Given the description of an element on the screen output the (x, y) to click on. 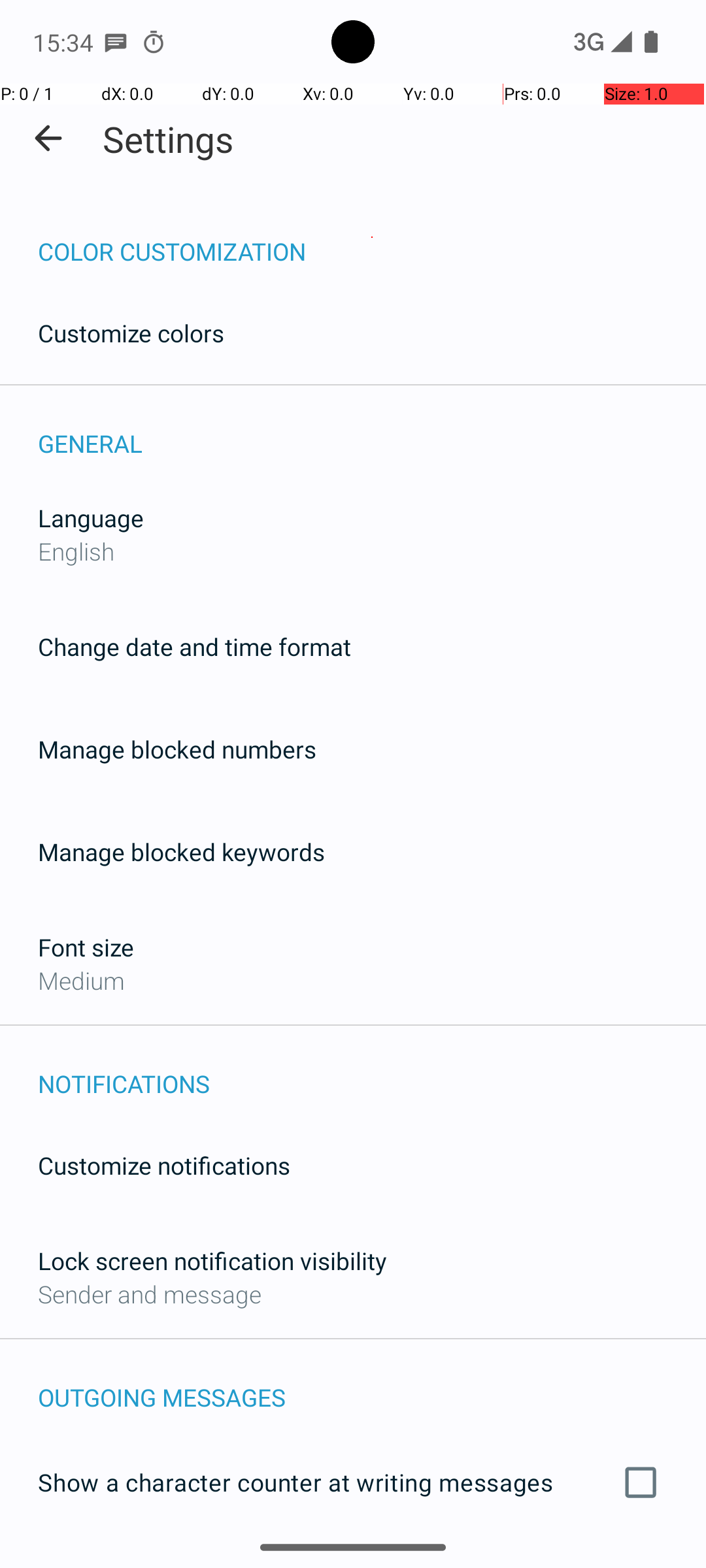
SMS Messenger notification: Emil Liu Element type: android.widget.ImageView (115, 41)
